Given the description of an element on the screen output the (x, y) to click on. 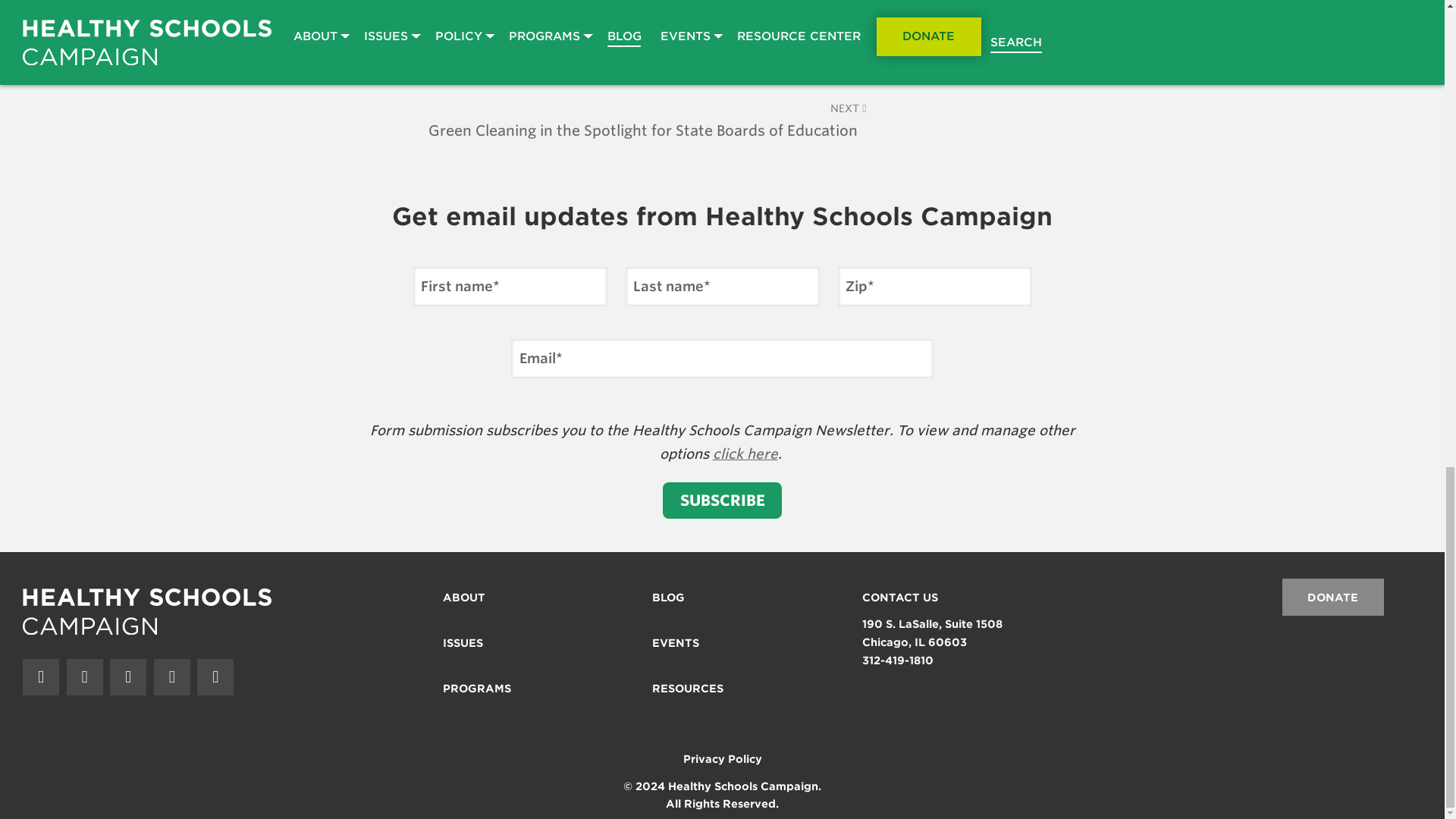
Last name  (721, 286)
First name  (509, 286)
Subscribe (721, 500)
Zip  (933, 286)
Healthy Schools Campaign (146, 611)
Email  (722, 358)
